Given the description of an element on the screen output the (x, y) to click on. 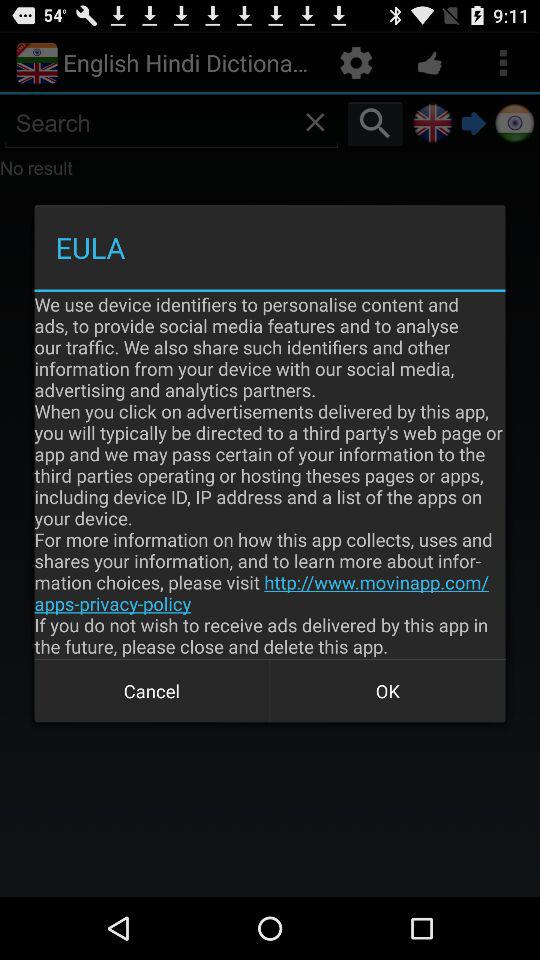
tap item at the center (269, 475)
